Given the description of an element on the screen output the (x, y) to click on. 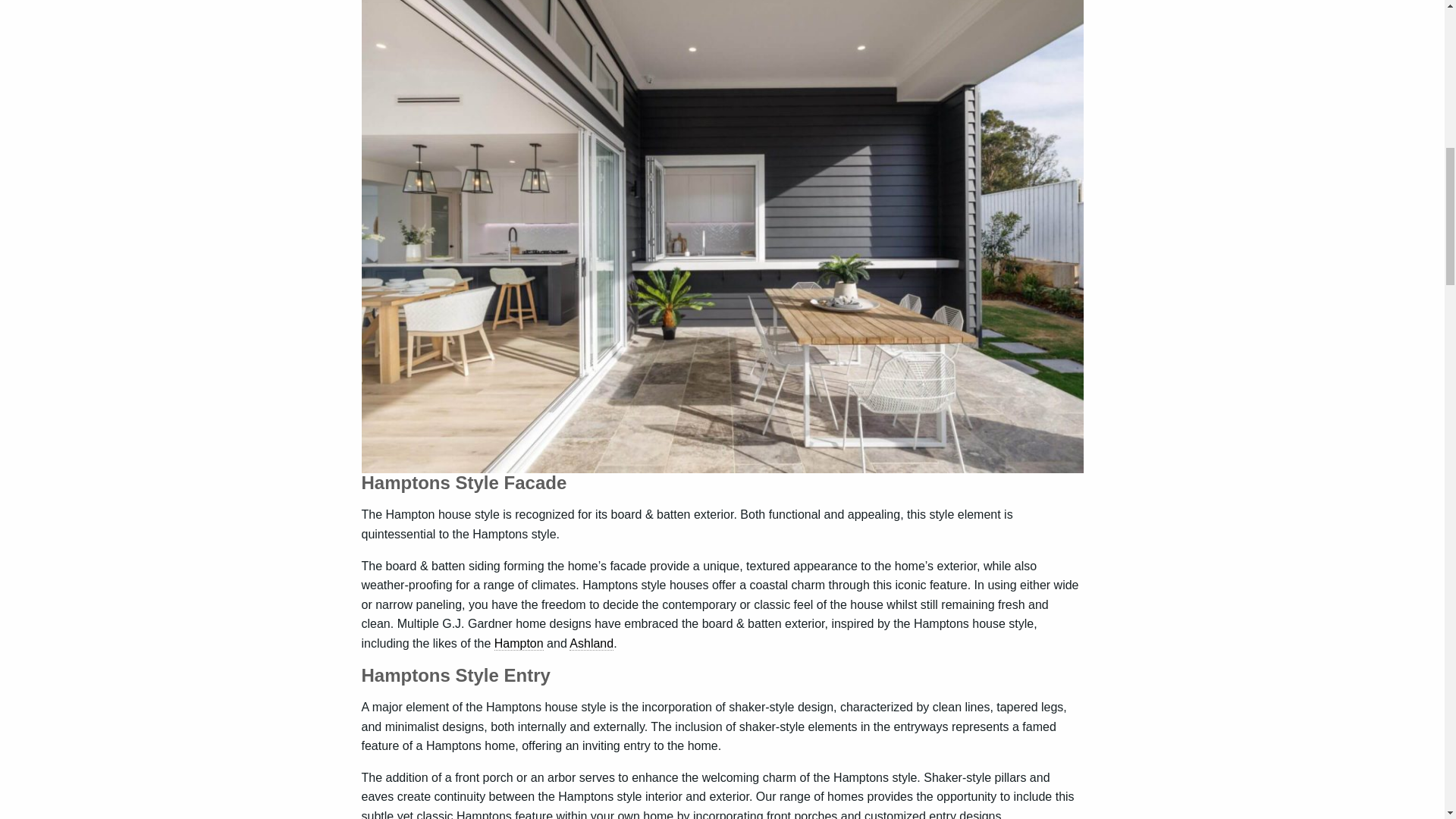
Hampton (519, 643)
Ashland (590, 643)
